Given the description of an element on the screen output the (x, y) to click on. 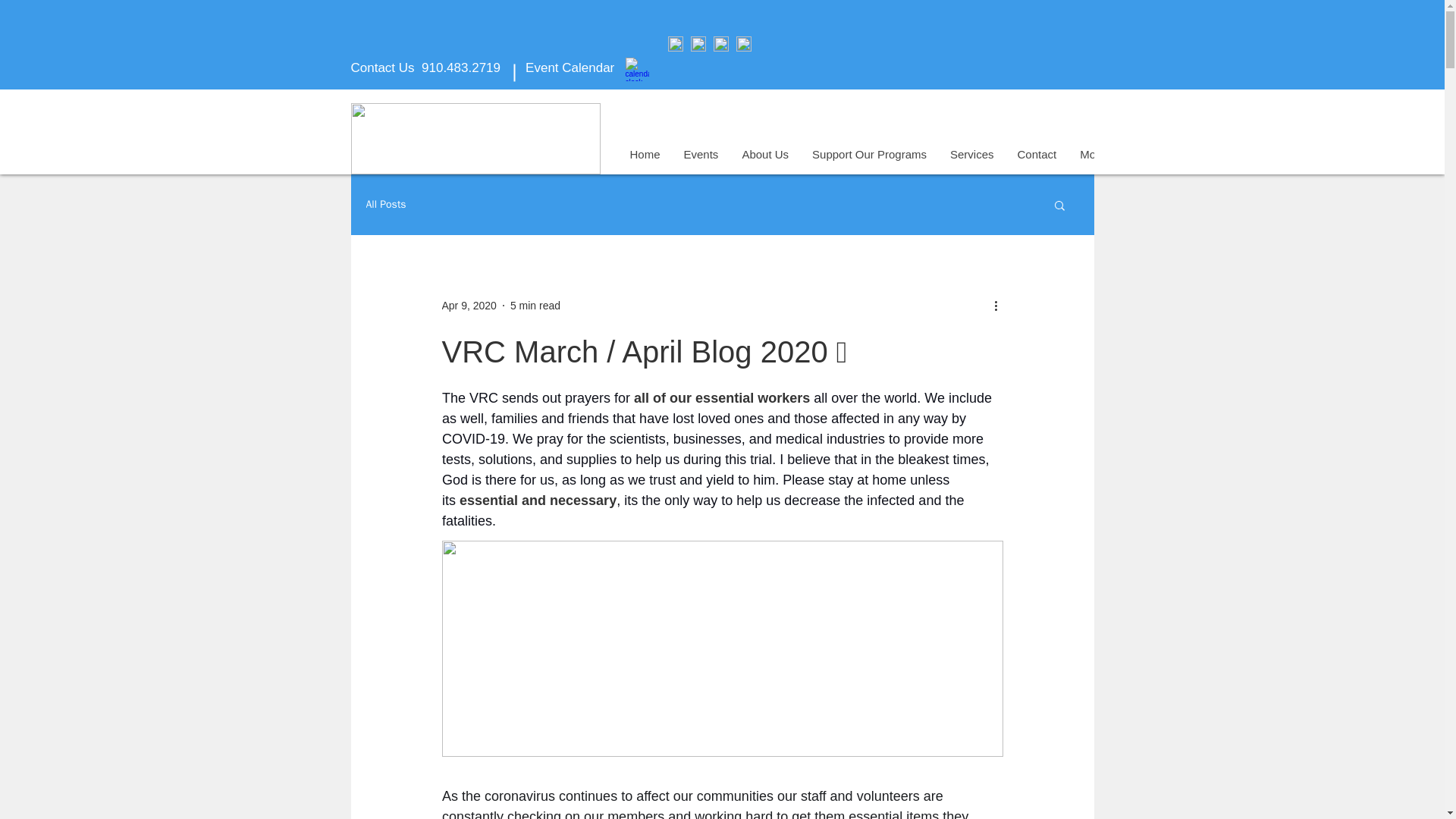
Services (971, 157)
5 min read (535, 304)
Contact Us  910.483.2719 (425, 67)
Home (644, 157)
All Posts (385, 204)
Events (700, 157)
Contact (1037, 157)
Apr 9, 2020 (468, 304)
About Us (764, 157)
Support Our Programs (868, 157)
 Event Calendar  (569, 67)
